Given the description of an element on the screen output the (x, y) to click on. 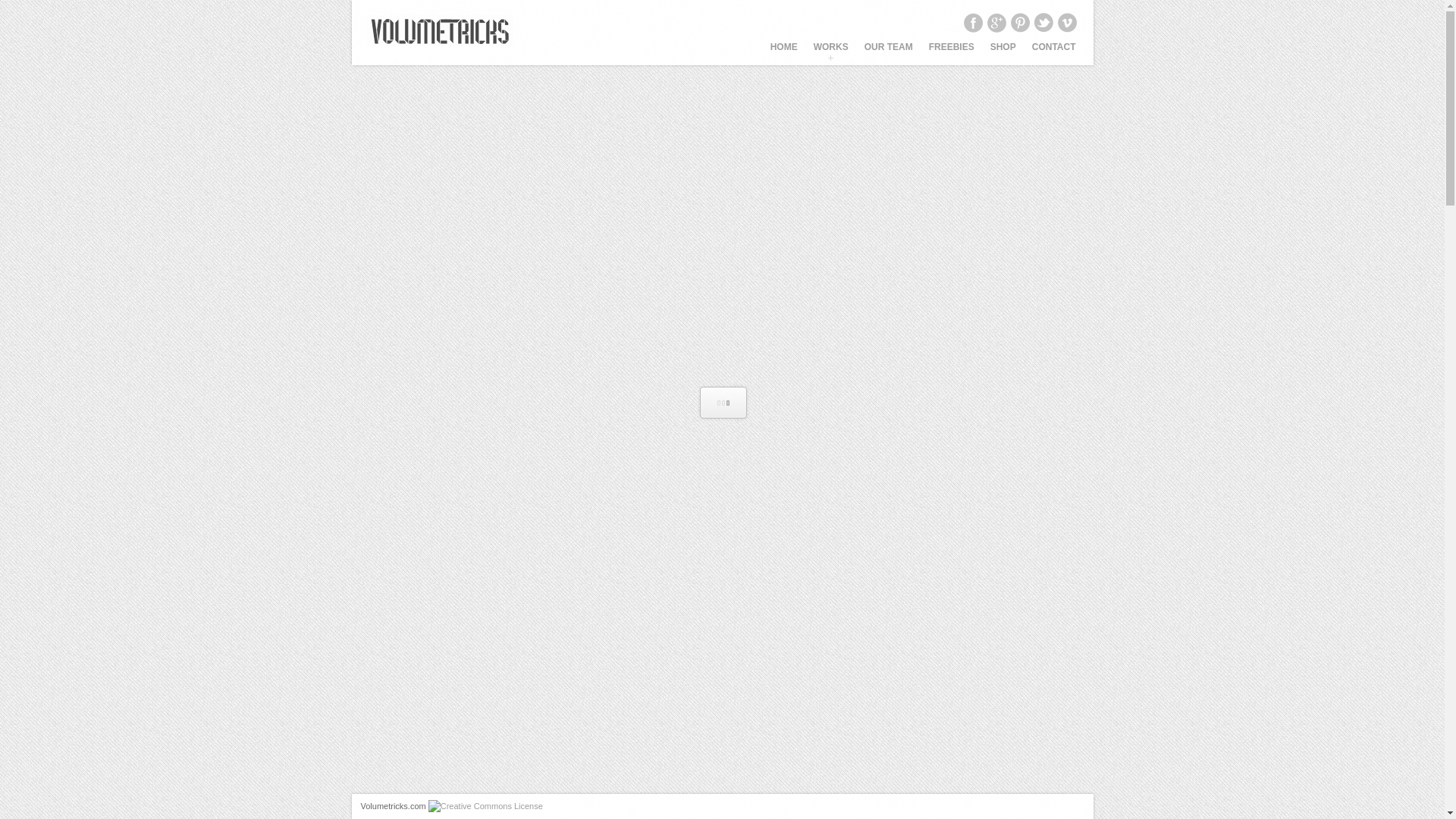
Pinterest (1019, 22)
CONTACT (1053, 52)
Facebook (972, 22)
Volumetricks (439, 32)
FREEBIES (951, 52)
HOME (783, 52)
WORKS (830, 52)
Vimeo (1067, 22)
Vimeo (1067, 22)
Pinterest (1019, 22)
SHOP (1002, 52)
Twitter (1042, 22)
OUR TEAM (888, 52)
Facebook (972, 22)
Twitter (1042, 22)
